Given the description of an element on the screen output the (x, y) to click on. 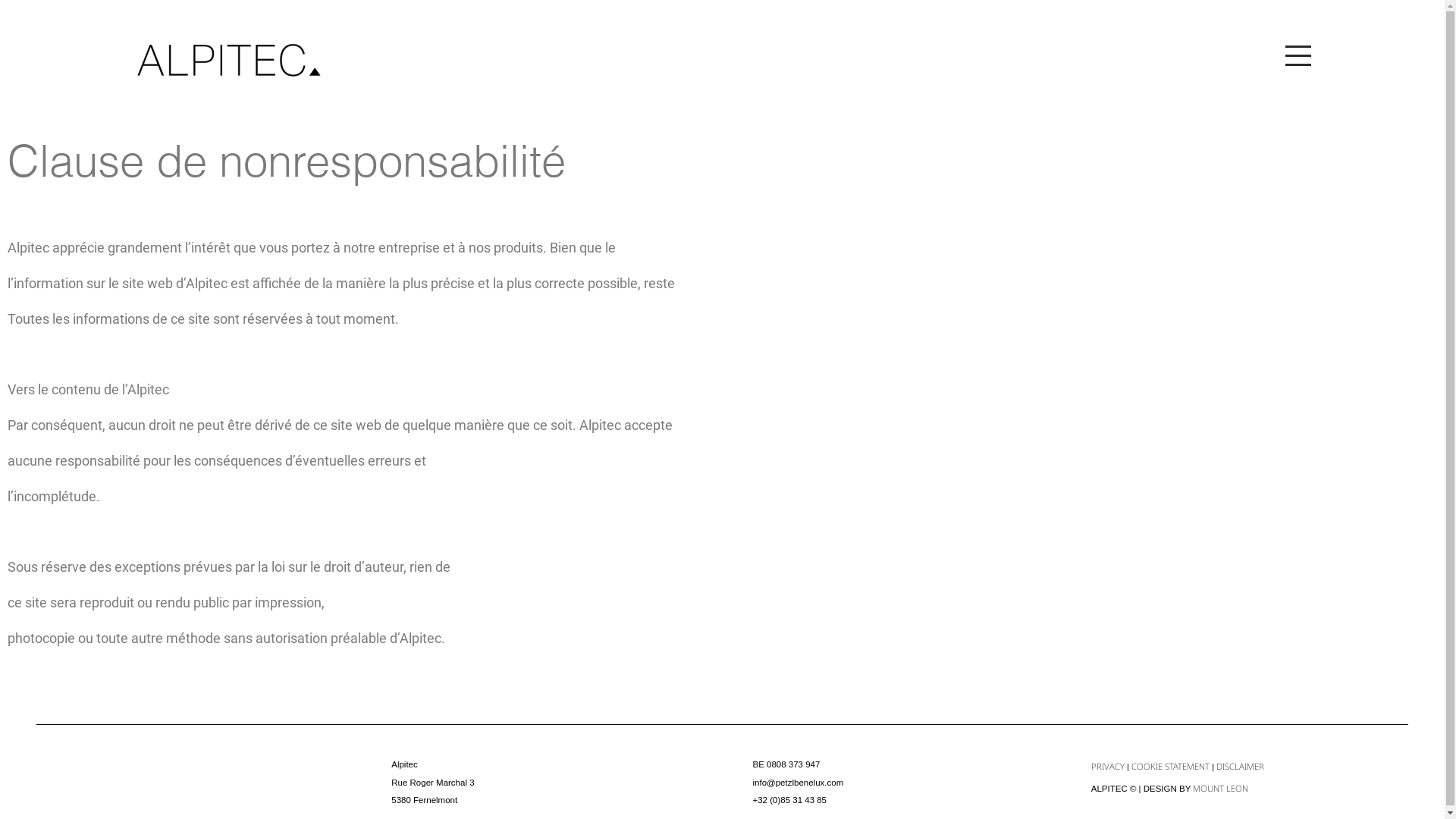
MOUNT LEON  Element type: text (1220, 787)
COOKIE STATEMENT Element type: text (1171, 765)
DISCLAIMER Element type: text (1240, 765)
PRIVACY Element type: text (1107, 765)
Alpitec_Benelux_Logo_Zwart Element type: hover (228, 59)
